Given the description of an element on the screen output the (x, y) to click on. 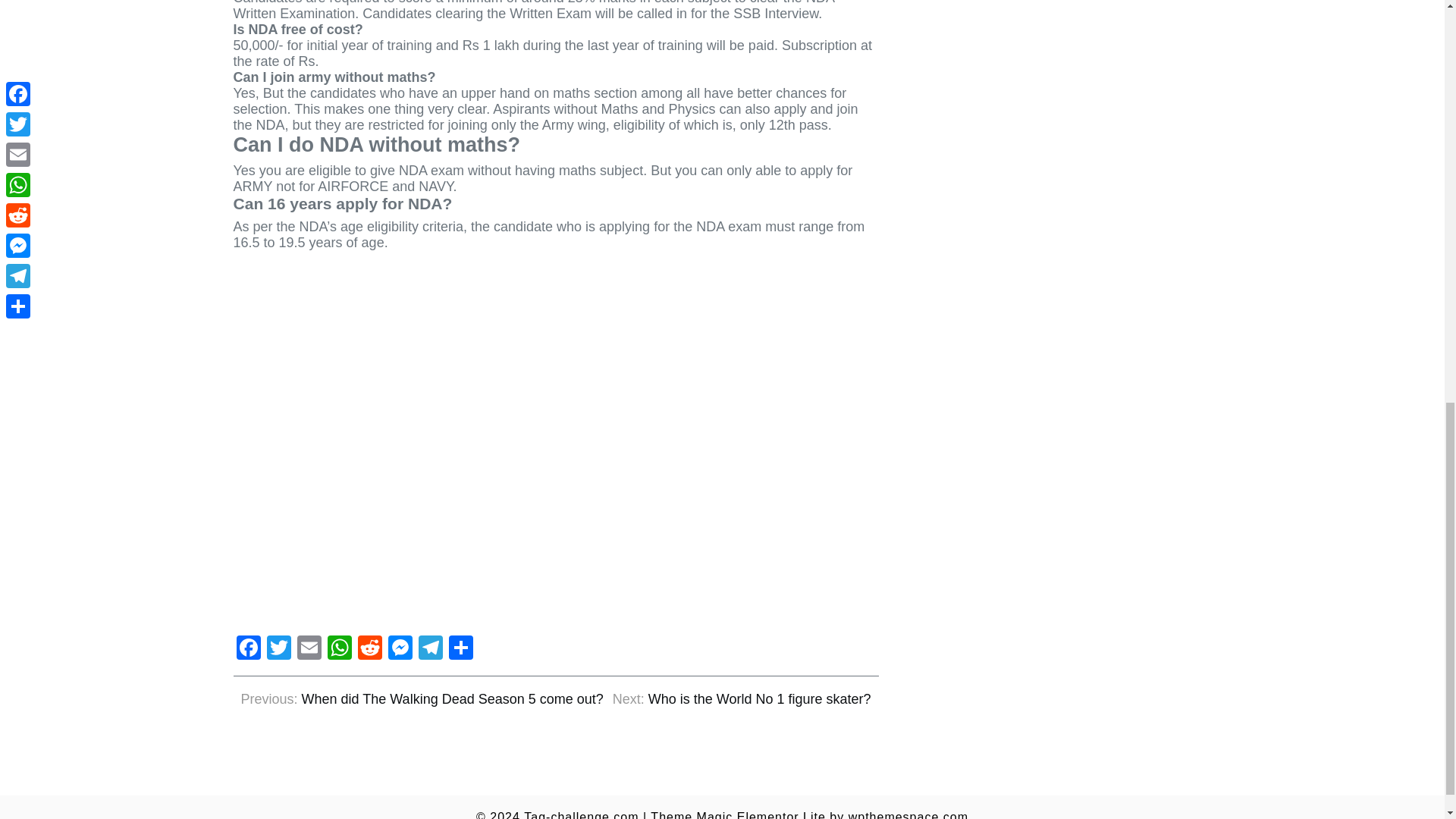
WhatsApp (339, 649)
Tag-challenge.com (581, 814)
Email (309, 649)
Reddit (370, 649)
Facebook (247, 649)
Telegram (429, 649)
Twitter (278, 649)
Telegram (429, 649)
Previous: When did The Walking Dead Season 5 come out? (422, 699)
